Given the description of an element on the screen output the (x, y) to click on. 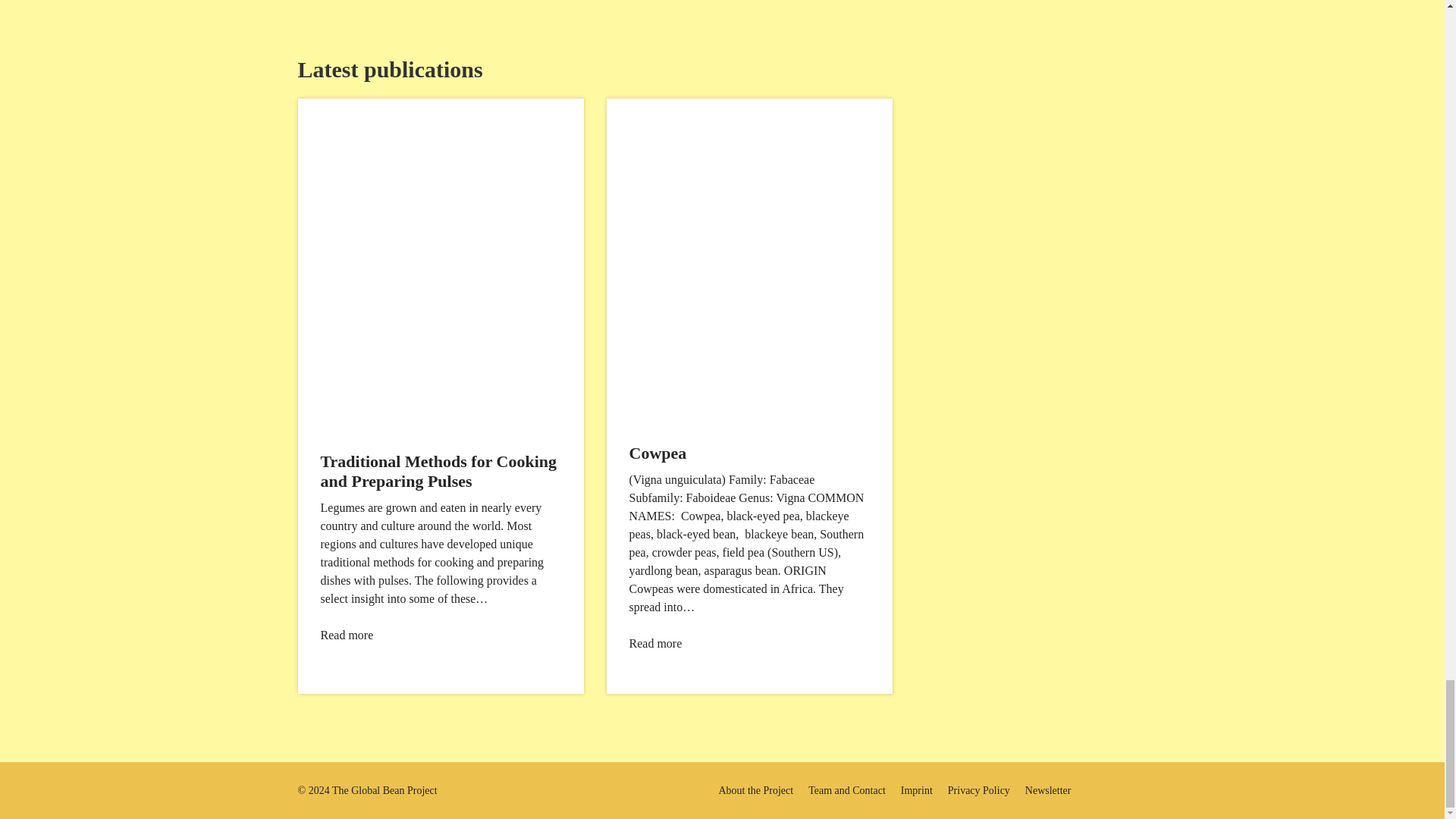
Traditional Methods for Cooking and Preparing Pulses (438, 471)
Read more (346, 634)
Cowpea (657, 452)
Read more (655, 643)
